Given the description of an element on the screen output the (x, y) to click on. 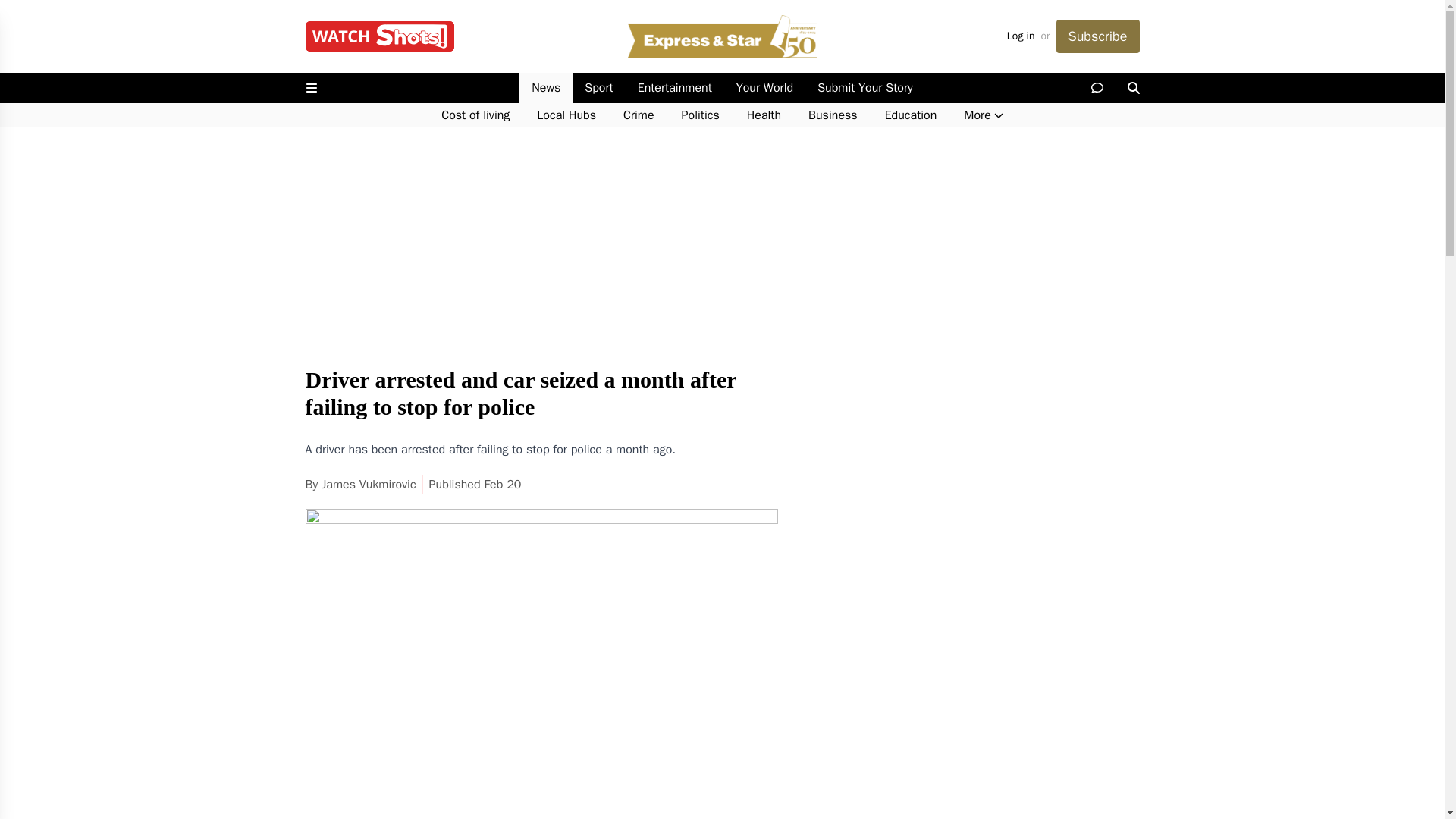
Business (832, 115)
Cost of living (475, 115)
Education (910, 115)
News (545, 87)
More (983, 115)
Politics (700, 115)
Local Hubs (566, 115)
Health (764, 115)
Subscribe (1096, 36)
Sport (598, 87)
Your World (764, 87)
Submit Your Story (864, 87)
Crime (638, 115)
Log in (1021, 36)
